Given the description of an element on the screen output the (x, y) to click on. 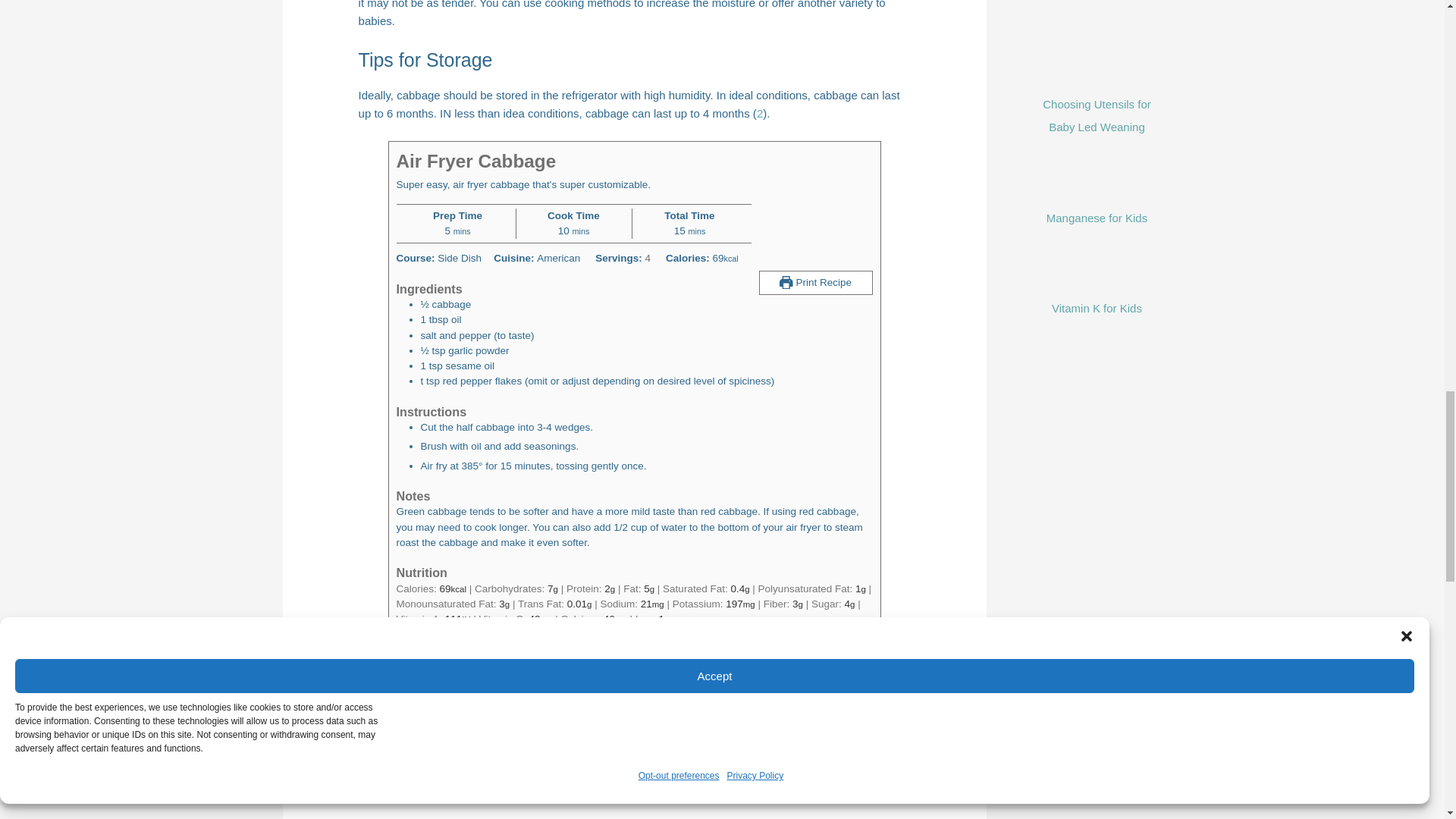
Instagram (394, 781)
Pinterest (416, 781)
Facebook (373, 781)
